Given the description of an element on the screen output the (x, y) to click on. 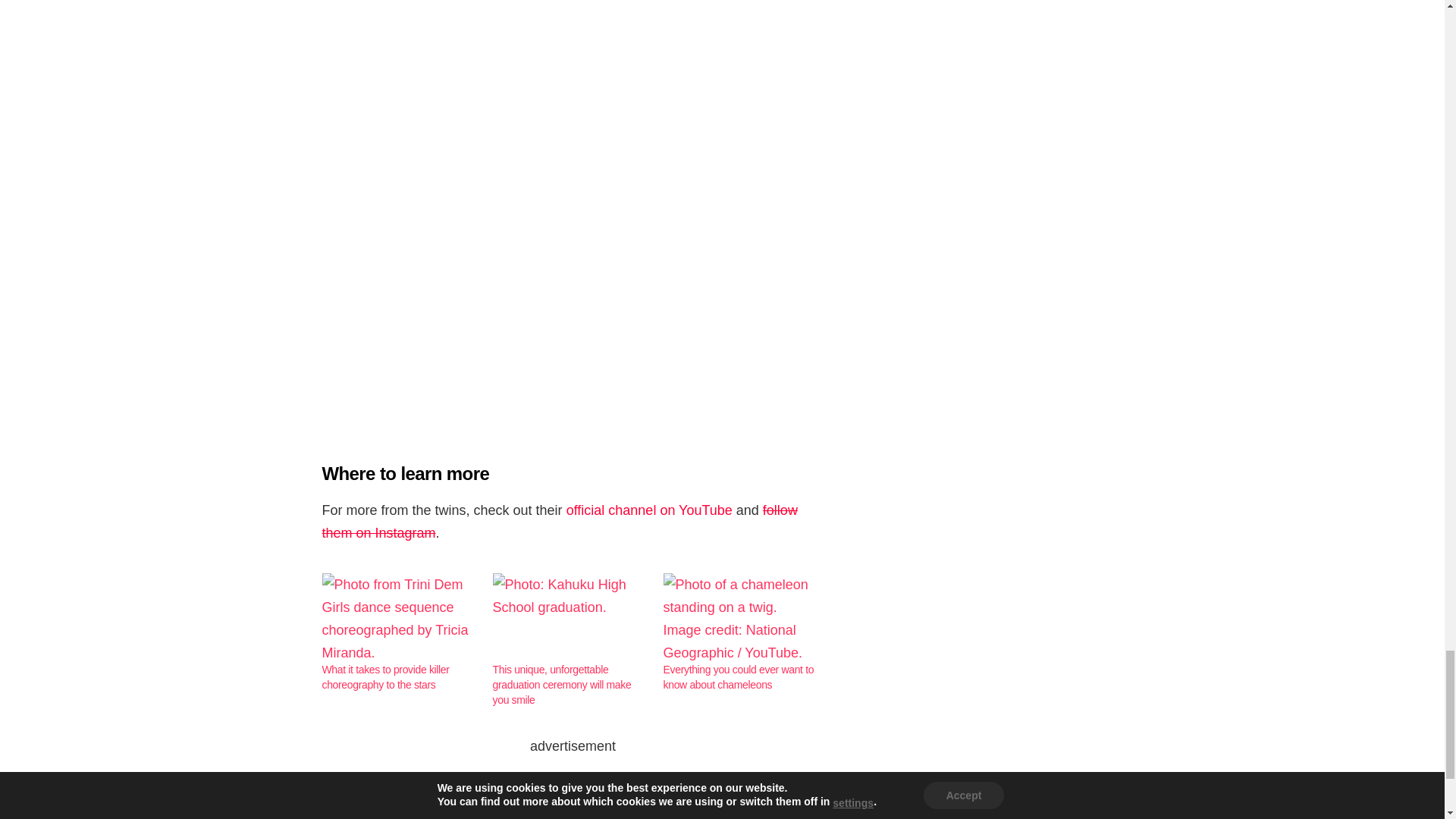
What it takes to provide killer choreography to the stars (384, 677)
Everything you could ever want to know about chameleons (738, 677)
What it takes to provide killer choreography to the stars (399, 617)
official channel on YouTube (649, 509)
What it takes to provide killer choreography to the stars (384, 677)
follow them on Instagram (558, 521)
